Given the description of an element on the screen output the (x, y) to click on. 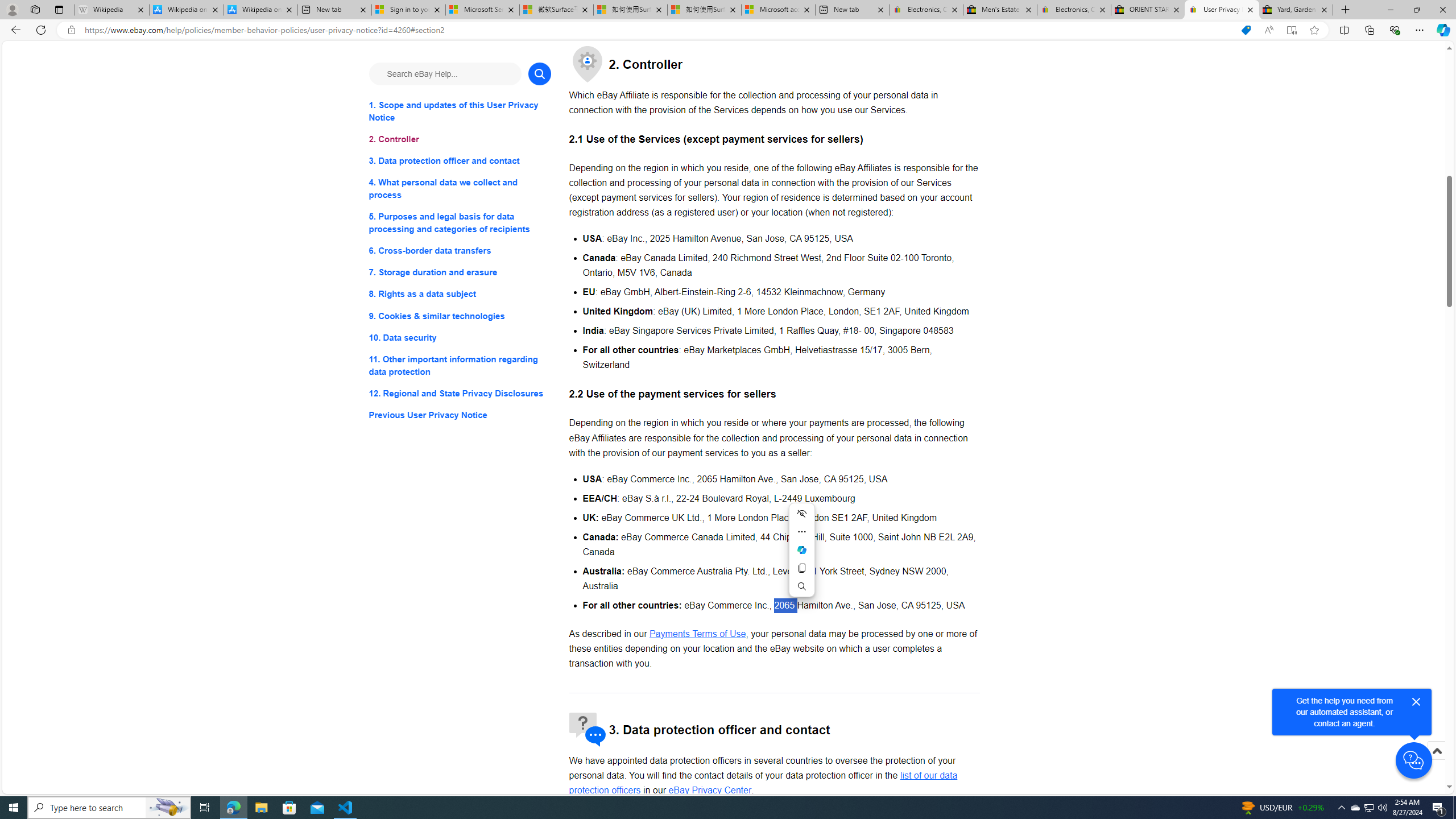
Payments Terms of Use - opens in new window or tab (697, 633)
Mini menu on text selection (802, 556)
1. Scope and updates of this User Privacy Notice (459, 111)
Search eBay Help... (444, 73)
Scroll to top (1435, 750)
6. Cross-border data transfers (459, 250)
8. Rights as a data subject (459, 293)
Previous User Privacy Notice (459, 414)
